Given the description of an element on the screen output the (x, y) to click on. 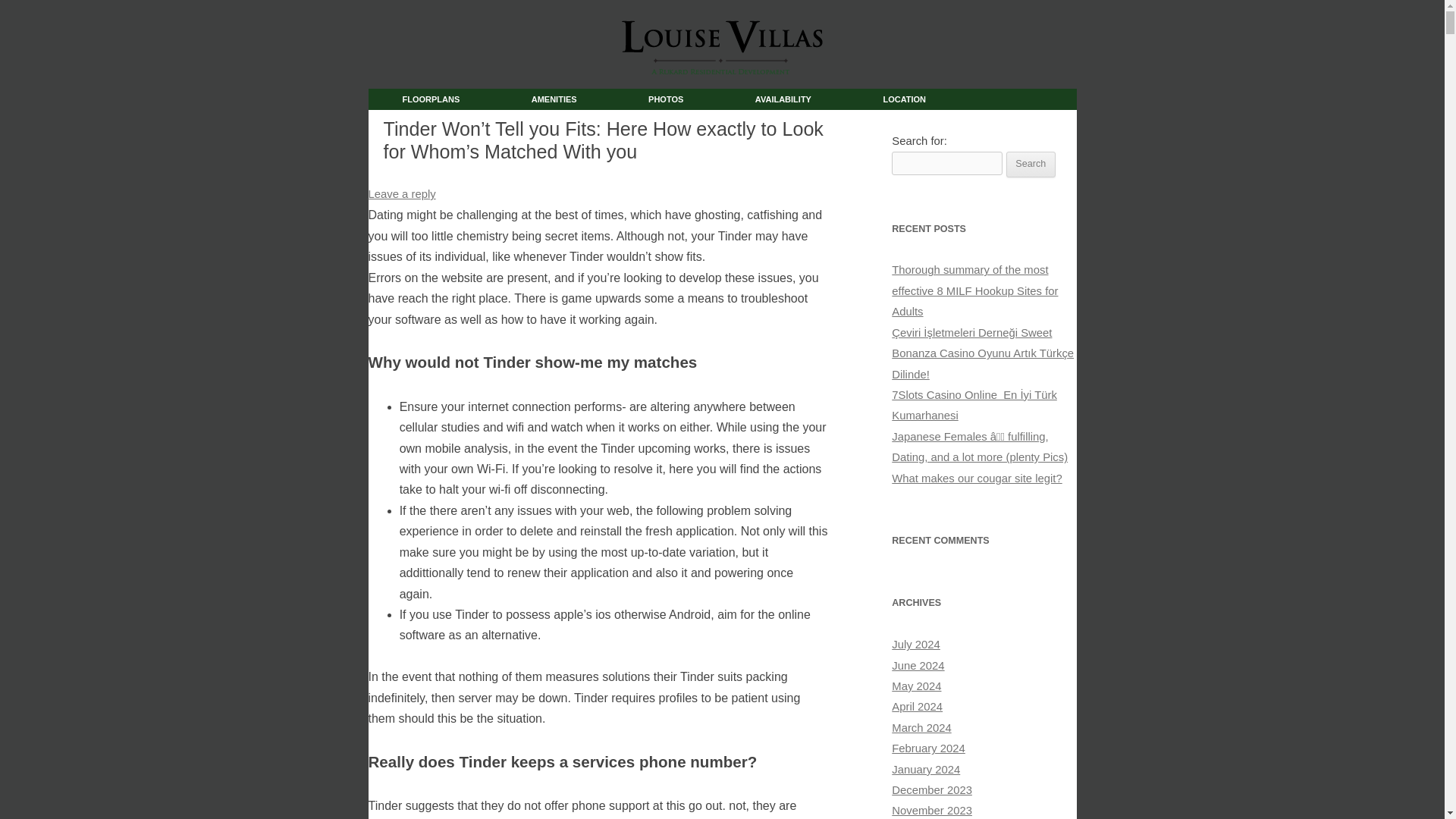
April 2024 (916, 706)
June 2024 (917, 665)
March 2024 (920, 727)
AMENITIES (553, 98)
Search (1030, 164)
LOCATION (904, 98)
Skip to content (762, 94)
July 2024 (915, 644)
Skip to content (762, 94)
November 2023 (931, 810)
December 2023 (931, 789)
FLOORPLANS (430, 98)
Search (1030, 164)
PHOTOS (664, 98)
